Given the description of an element on the screen output the (x, y) to click on. 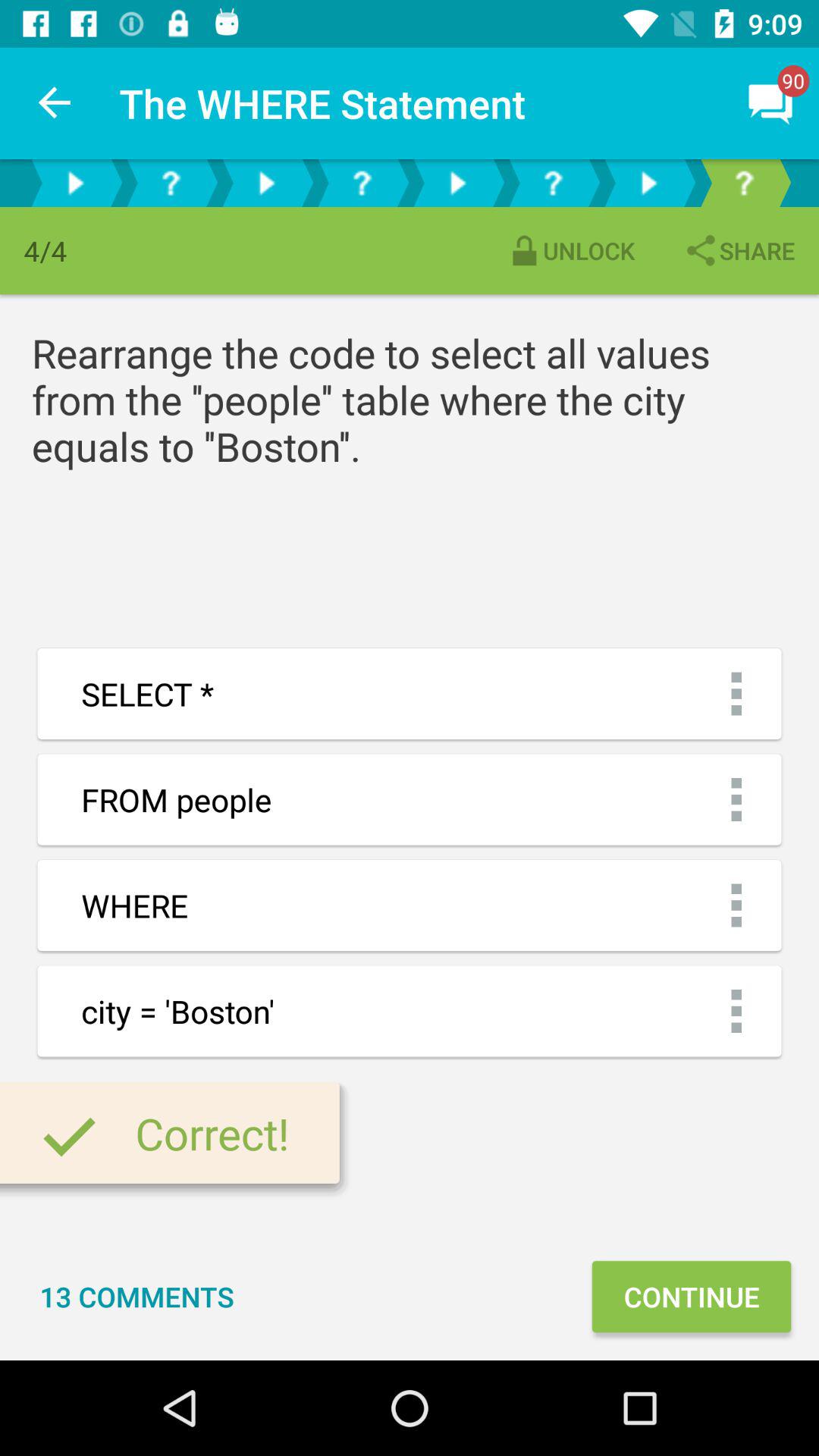
toggle autoplay option (74, 183)
